Given the description of an element on the screen output the (x, y) to click on. 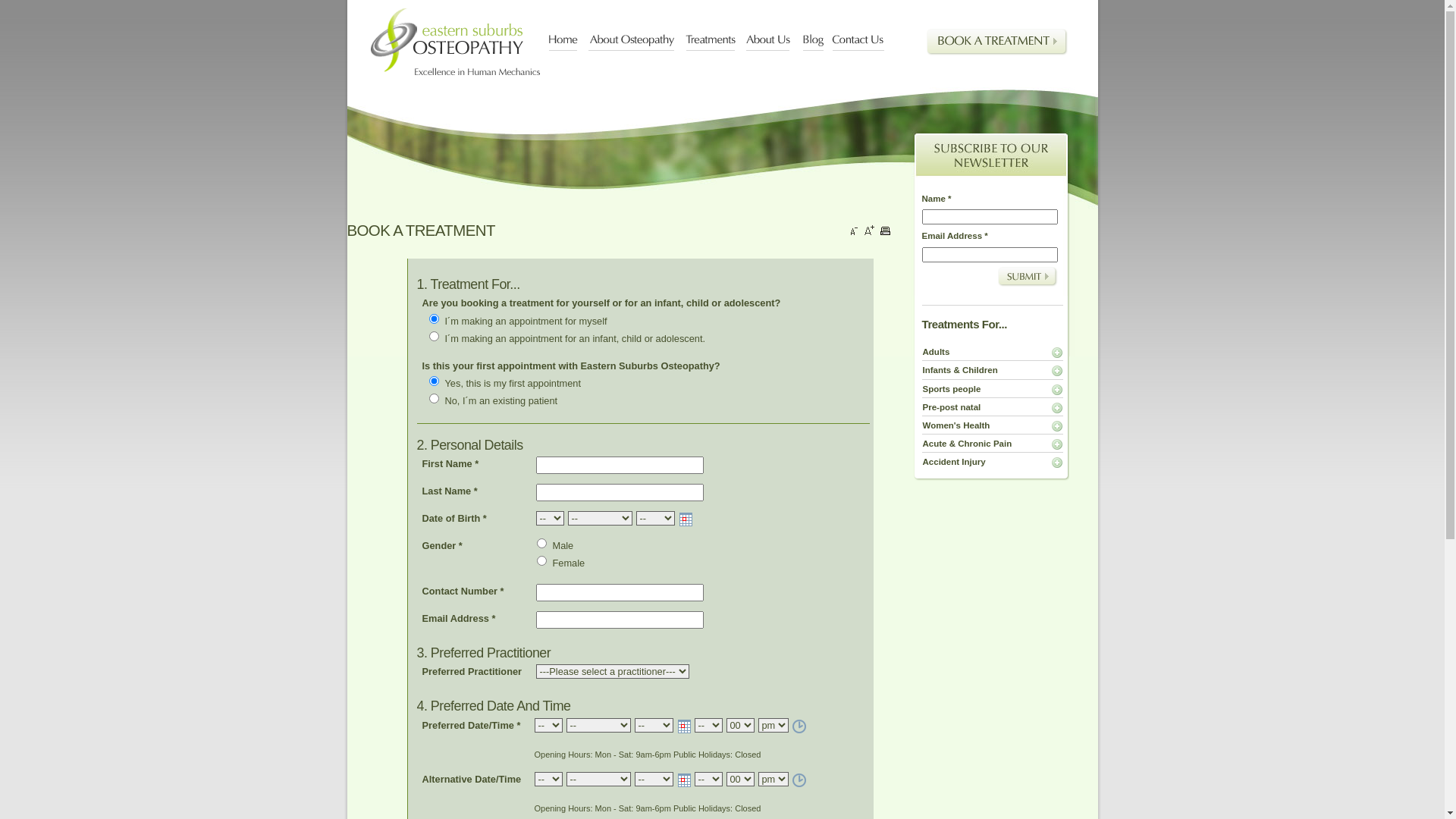
togged Element type: text (1056, 462)
Acute & Chronic Pain Element type: text (967, 443)
togged Element type: text (1056, 444)
Home Element type: hover (563, 42)
Treatments Element type: hover (710, 42)
Adults Element type: text (936, 352)
togged Element type: text (1056, 389)
togged Element type: text (1056, 370)
Pick a time Element type: hover (800, 725)
Pick a date Element type: hover (686, 519)
Pick a time Element type: hover (800, 779)
Women's Health Element type: text (956, 425)
About Osteopathy Element type: hover (631, 42)
Pre-post natal Element type: text (951, 407)
About Us Element type: hover (768, 42)
Blog Element type: hover (812, 42)
togged Element type: text (1056, 352)
togged Element type: text (1056, 408)
Contact Us Element type: hover (858, 42)
togged Element type: text (1056, 426)
Book a treatment Element type: text (996, 45)
Contact Us COPY Element type: hover (902, 42)
Pick a date Element type: hover (684, 779)
Infants & Children Element type: text (959, 370)
Back to home Element type: hover (454, 41)
About Us COPY Element type: hover (894, 42)
Pick a date Element type: hover (684, 726)
Submit Element type: text (1027, 276)
Accident Injury Element type: text (953, 462)
Sports people Element type: text (951, 389)
